Given the description of an element on the screen output the (x, y) to click on. 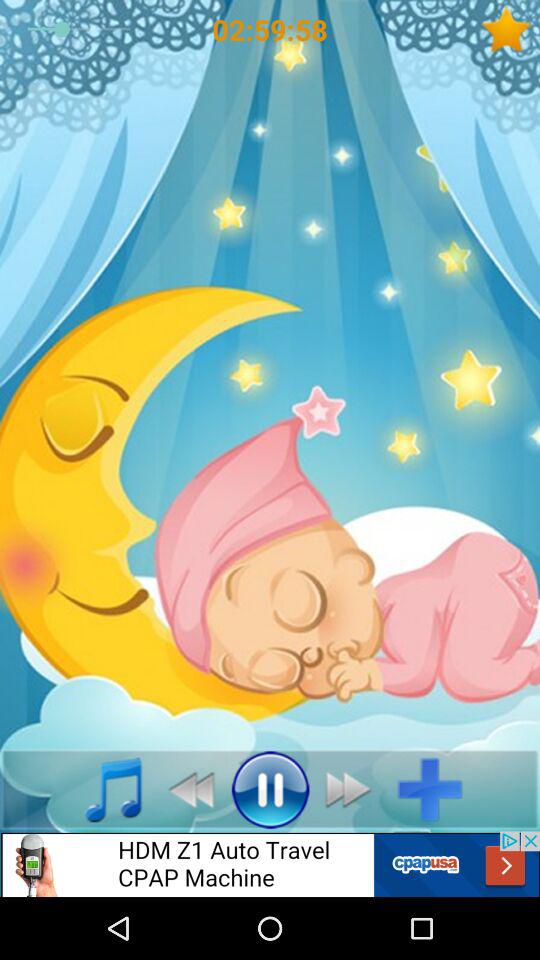
play (269, 789)
